Given the description of an element on the screen output the (x, y) to click on. 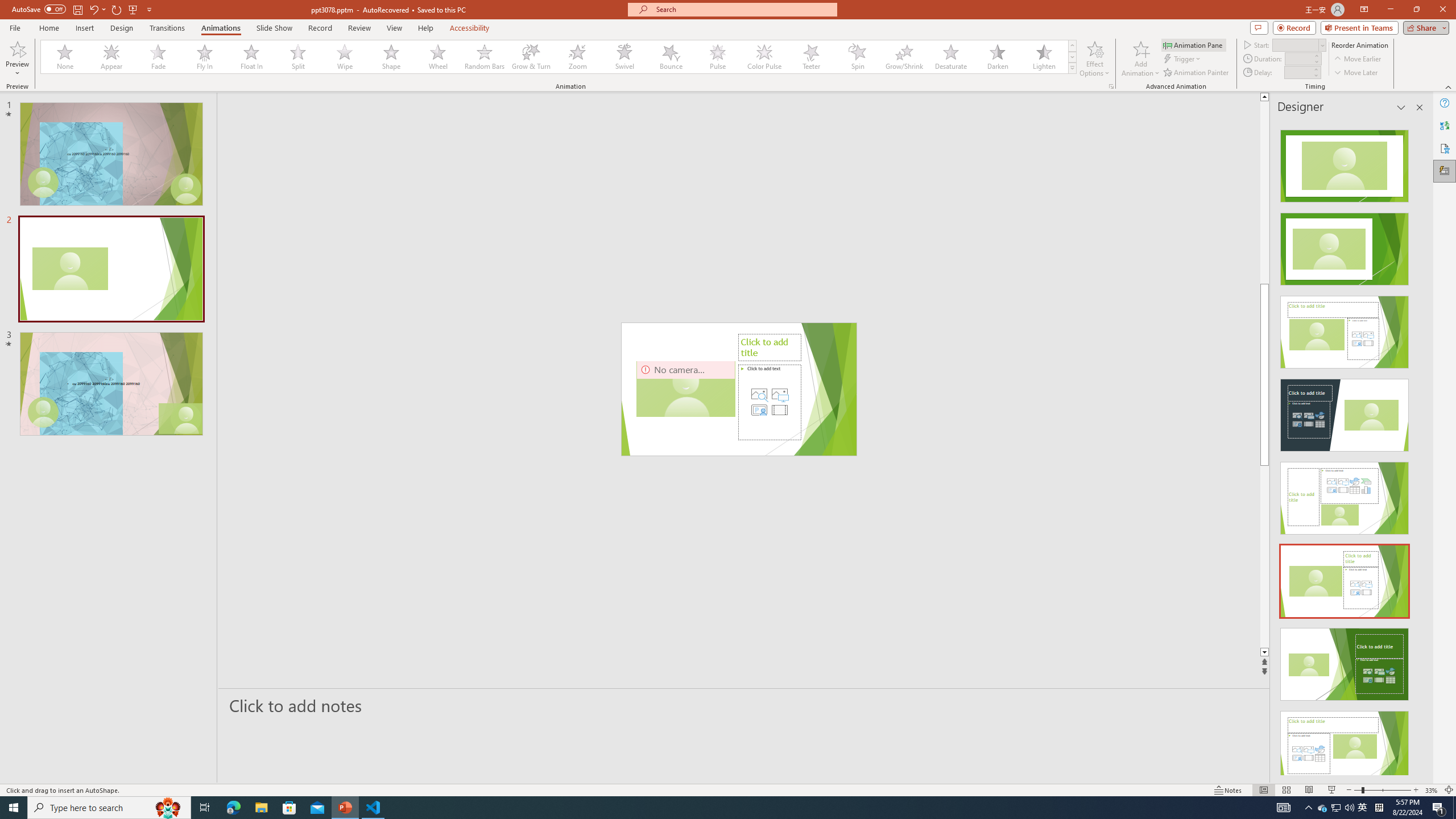
Grow & Turn (531, 56)
Insert Video (779, 409)
Stock Images (758, 394)
Trigger (1182, 58)
Grow/Shrink (903, 56)
Effect Options (1094, 58)
